Given the description of an element on the screen output the (x, y) to click on. 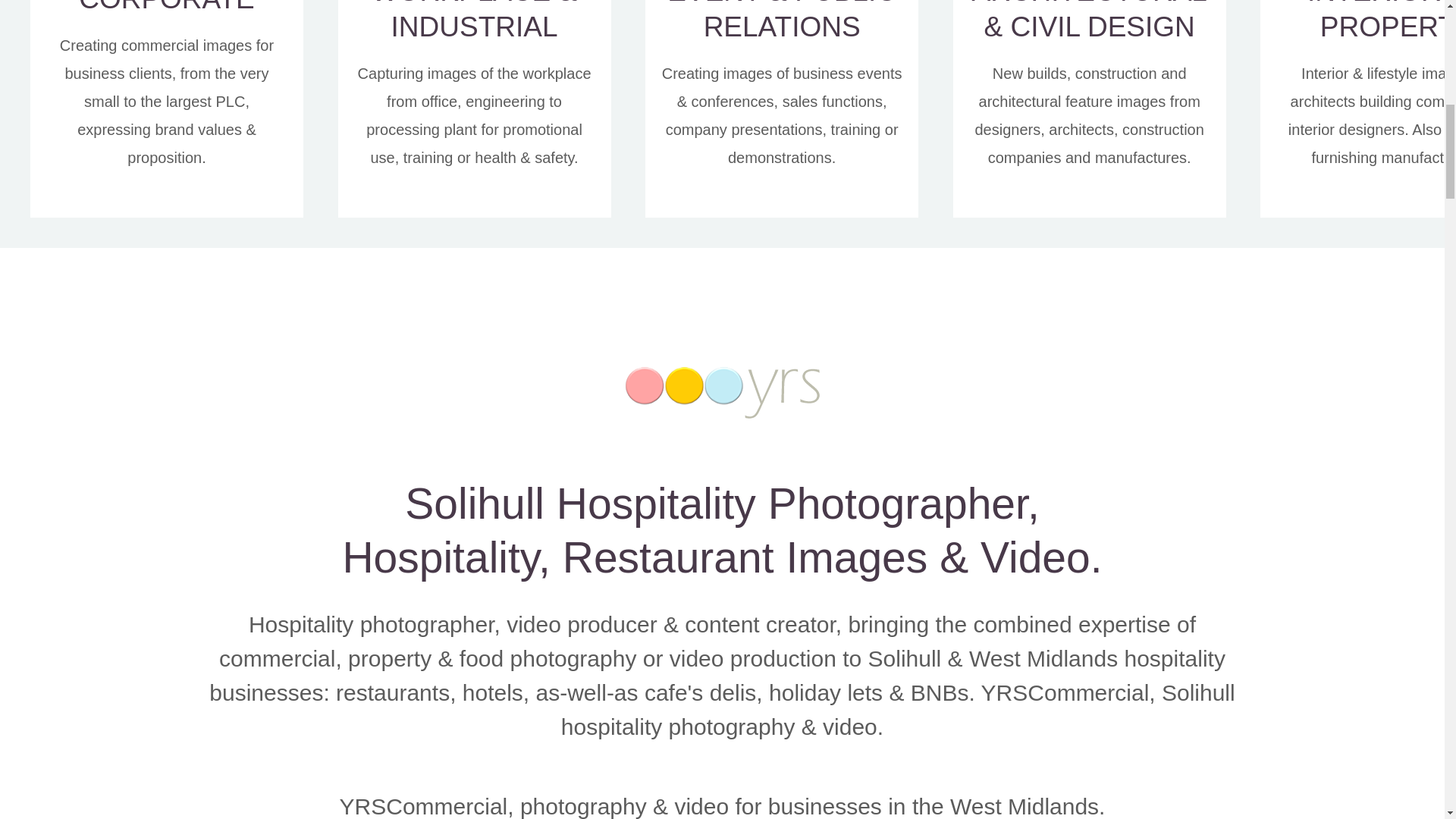
YRSCommercial, Commercial Photography (167, 7)
